Given the description of an element on the screen output the (x, y) to click on. 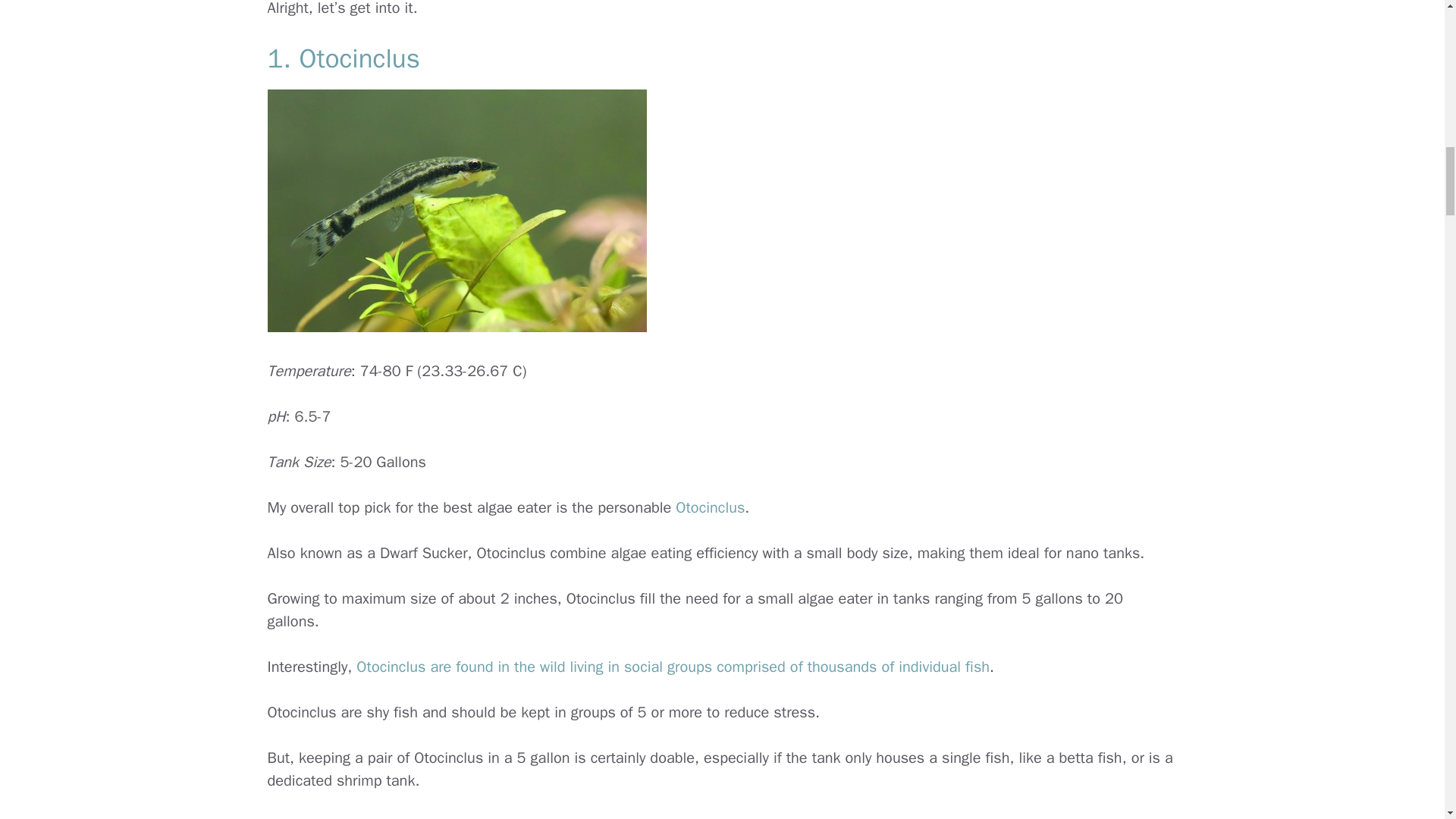
Otocinclus (709, 506)
